Given the description of an element on the screen output the (x, y) to click on. 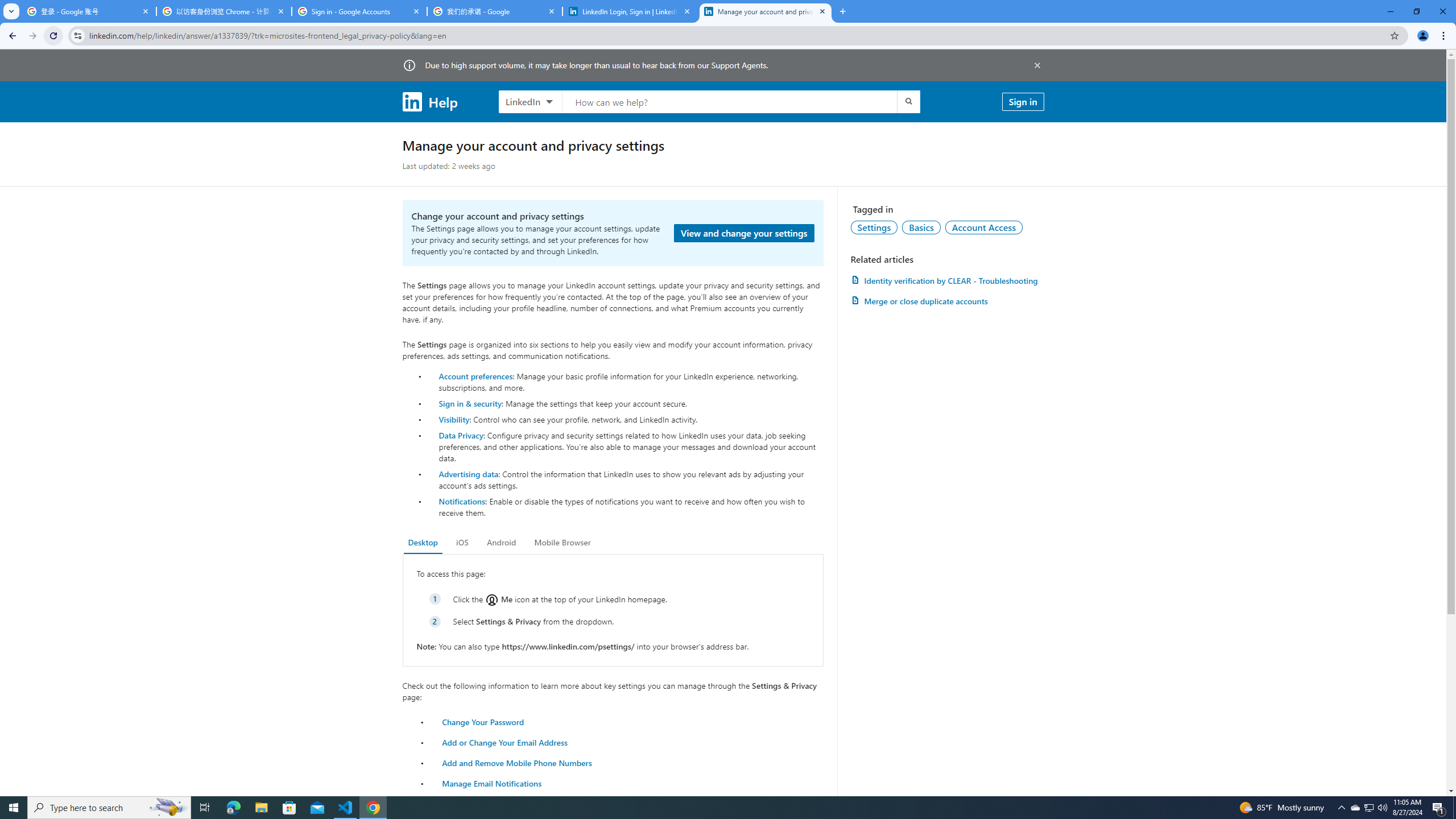
Merge or close duplicate accounts (946, 300)
Android (501, 542)
Mobile Browser (562, 542)
Advertising data (468, 473)
AutomationID: topic-link-a151002 (983, 227)
Manage Email Notifications (491, 782)
Account preferences (475, 375)
AutomationID: topic-link-a149001 (874, 227)
AutomationID: article-link-a1457505 (946, 280)
